Given the description of an element on the screen output the (x, y) to click on. 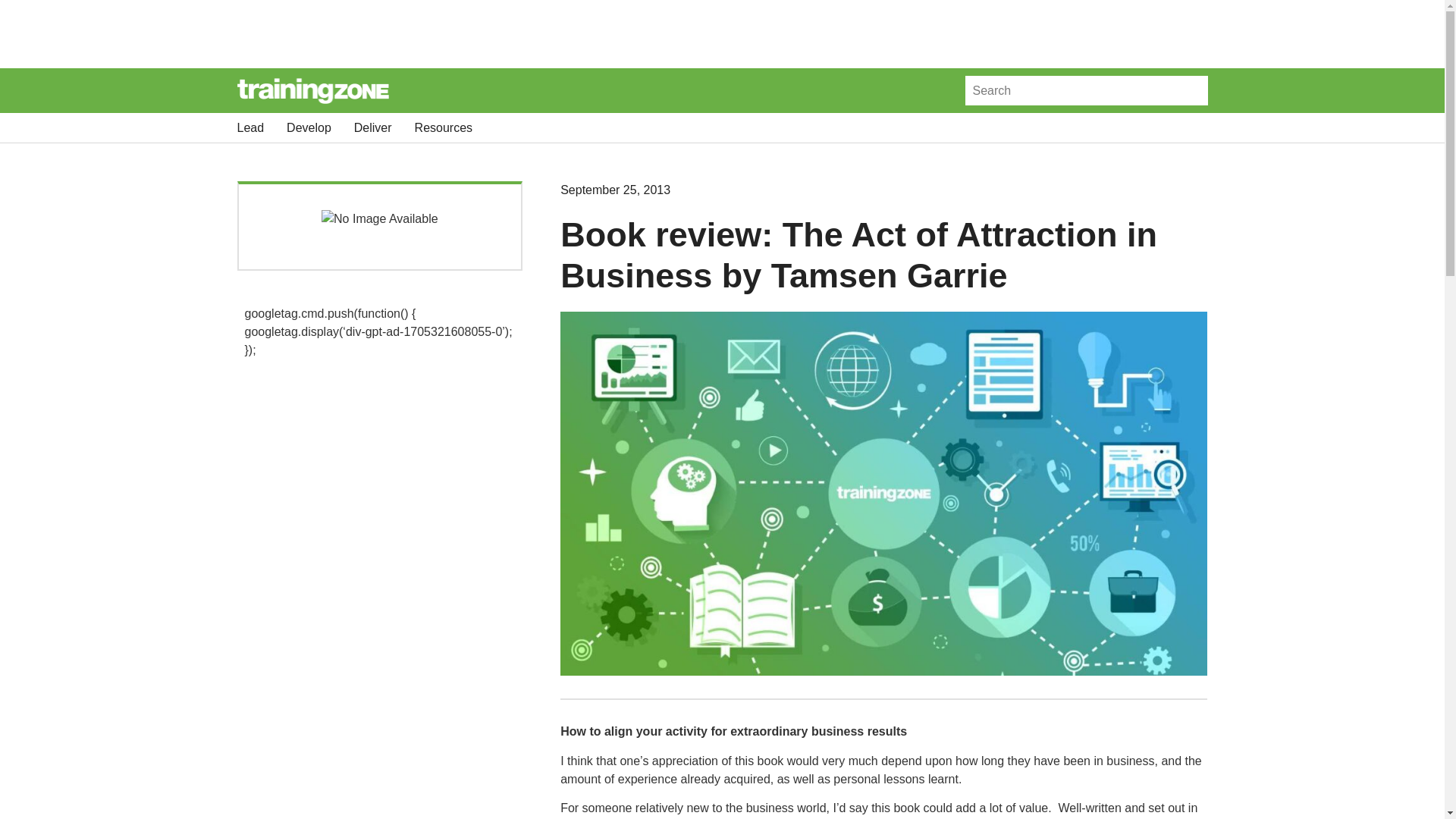
Resources (442, 127)
Deliver (372, 127)
Develop (308, 127)
Lead (249, 127)
